Given the description of an element on the screen output the (x, y) to click on. 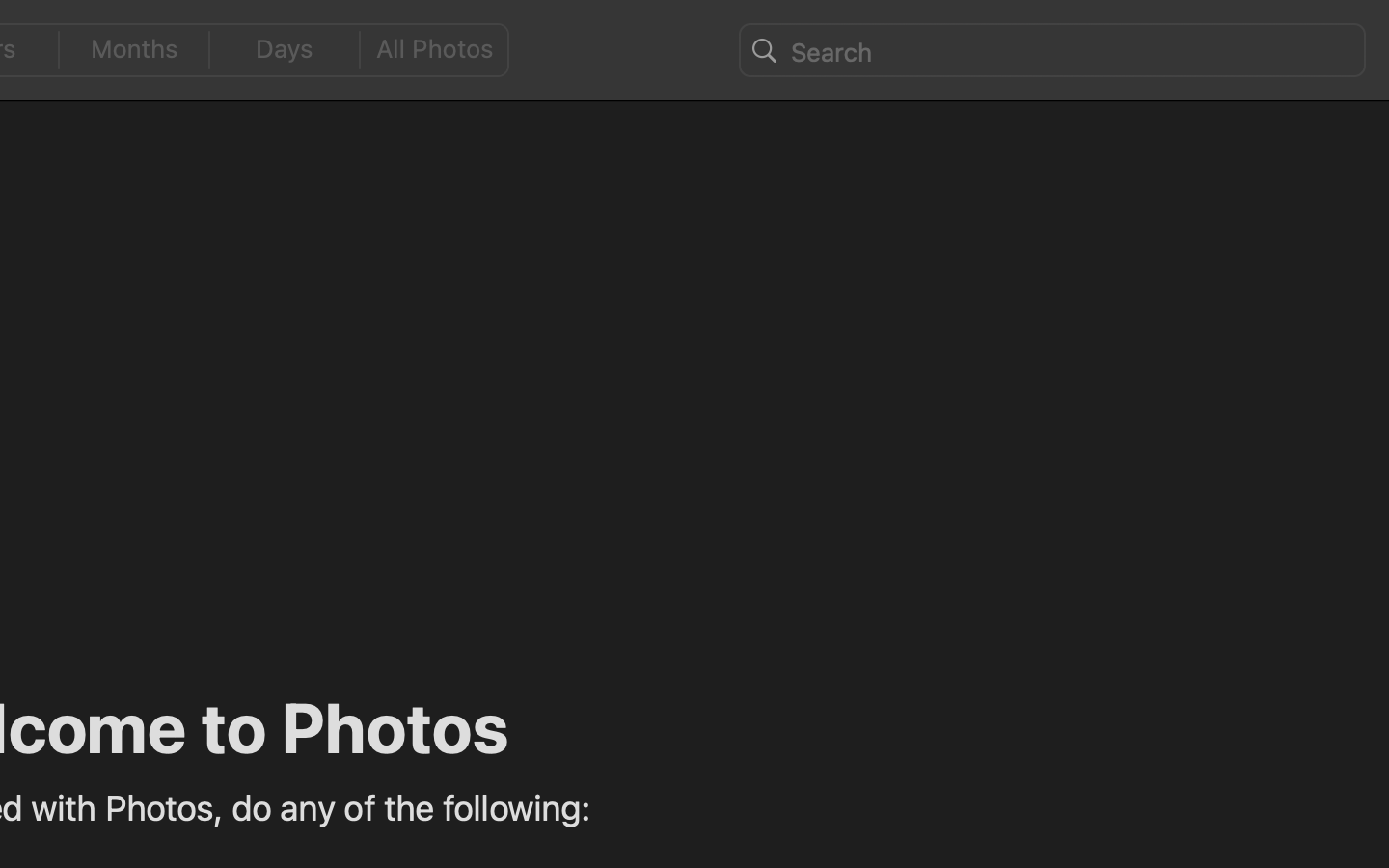
0 Element type: AXRadioButton (440, 49)
